Given the description of an element on the screen output the (x, y) to click on. 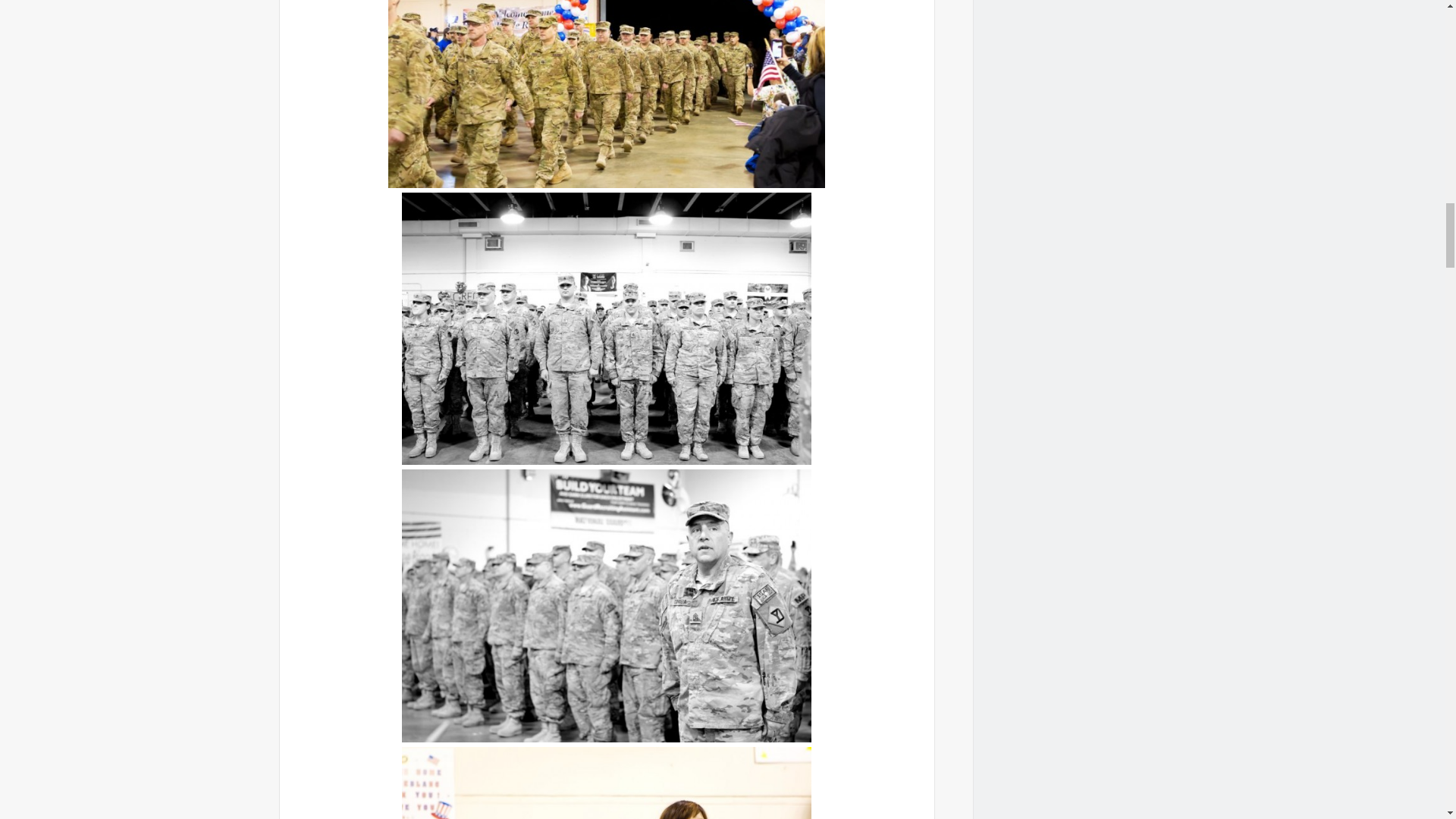
LeeHomecoming-1029 (605, 782)
LeeHomecoming-1026 (605, 605)
LeeHomecoming-1017 (606, 94)
LeeHomecoming-1024 (605, 329)
